Given the description of an element on the screen output the (x, y) to click on. 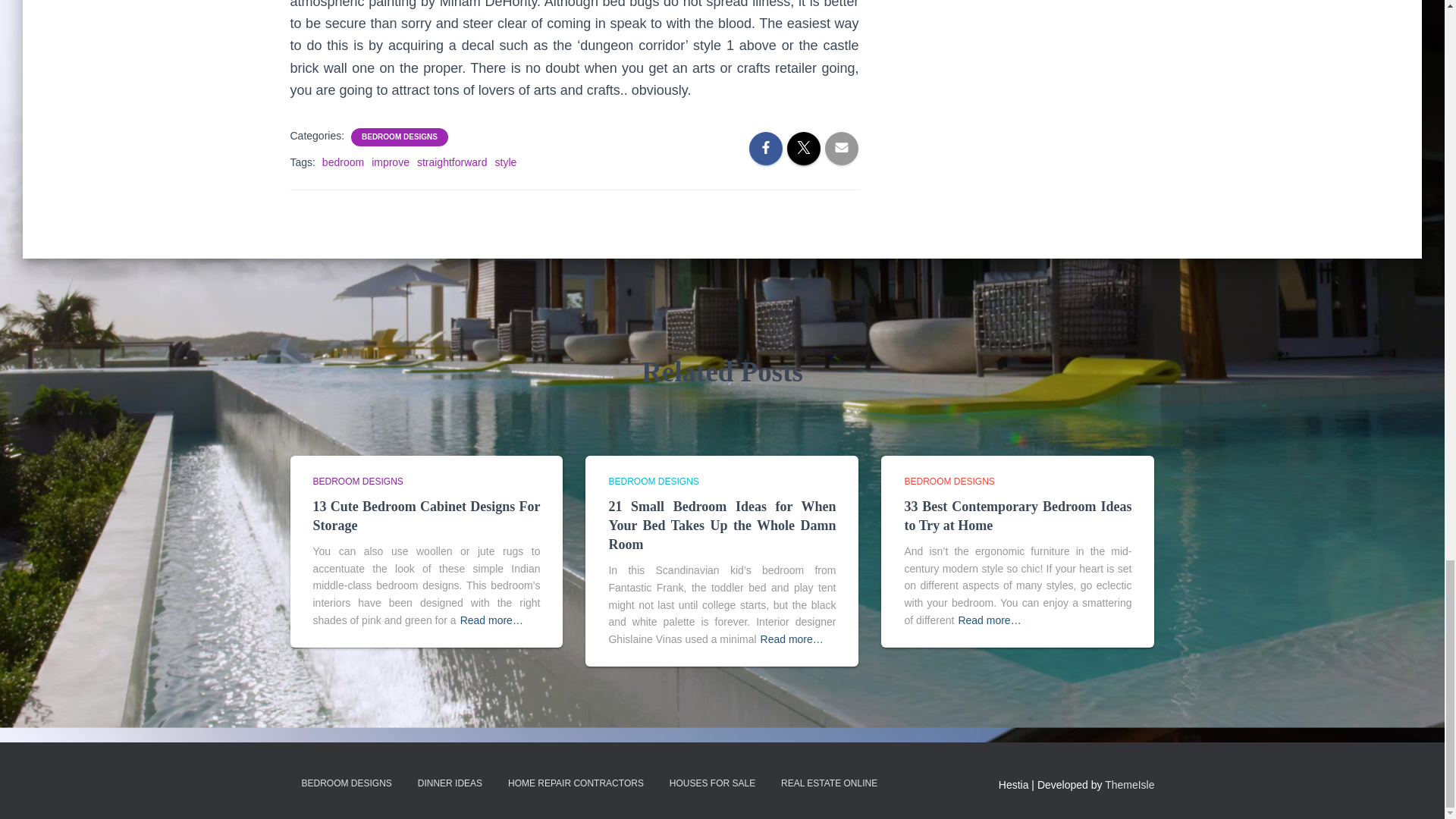
33 Best Contemporary Bedroom Ideas to Try at Home (1017, 515)
View all posts in Bedroom Designs (358, 480)
straightforward (451, 162)
BEDROOM DESIGNS (399, 136)
BEDROOM DESIGNS (346, 783)
HOUSES FOR SALE (712, 783)
View all posts in Bedroom Designs (949, 480)
BEDROOM DESIGNS (949, 480)
View all posts in Bedroom Designs (653, 480)
